Given the description of an element on the screen output the (x, y) to click on. 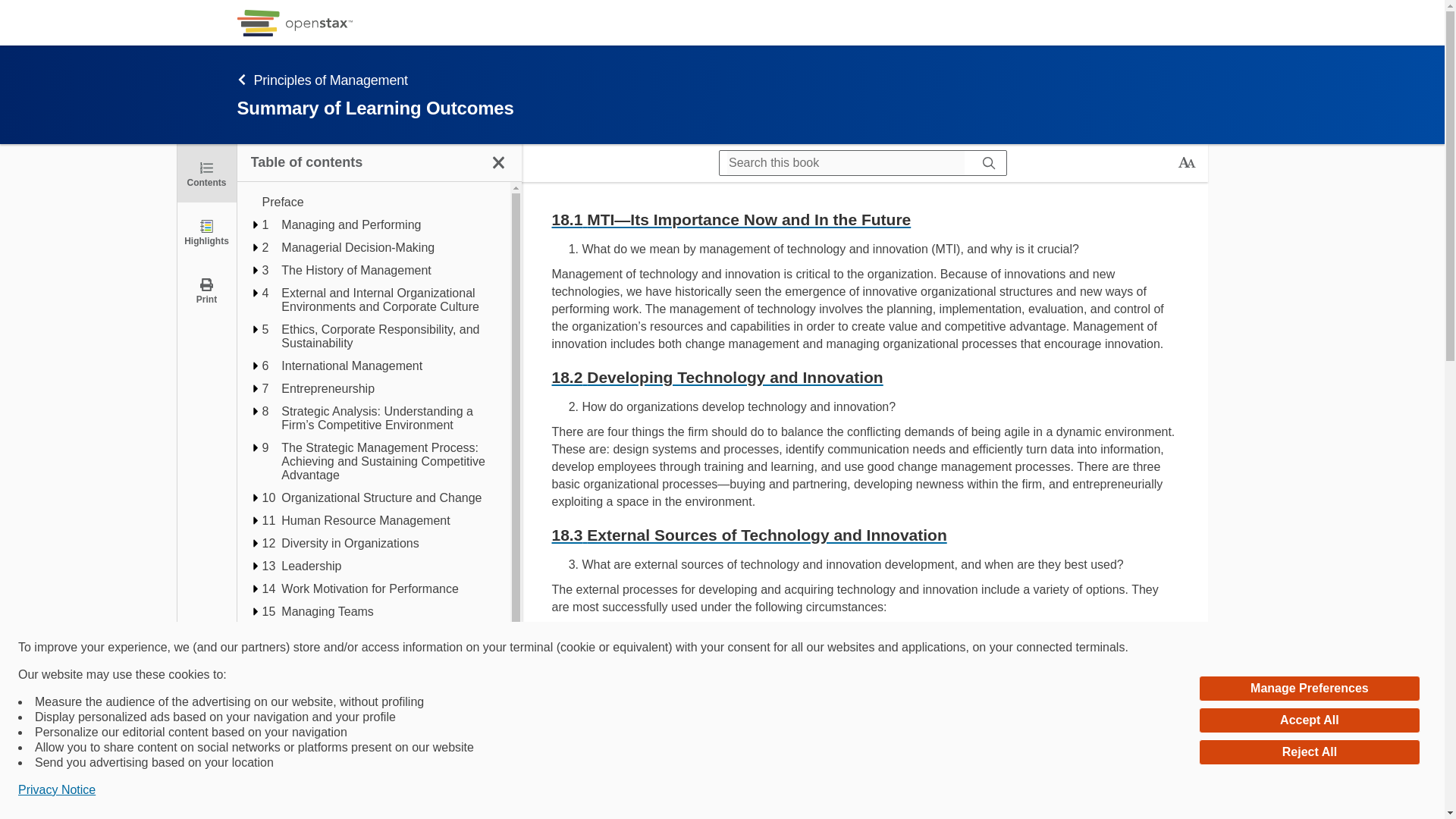
Highlights (206, 231)
Search (16, 12)
Principles of Management (635, 78)
Accept All (1309, 720)
Reject All (1309, 751)
Privacy Notice (56, 789)
Preface (379, 202)
Search (989, 162)
Principles of Management (338, 119)
Contents (206, 173)
Manage Preferences (1309, 688)
Print (206, 290)
